Given the description of an element on the screen output the (x, y) to click on. 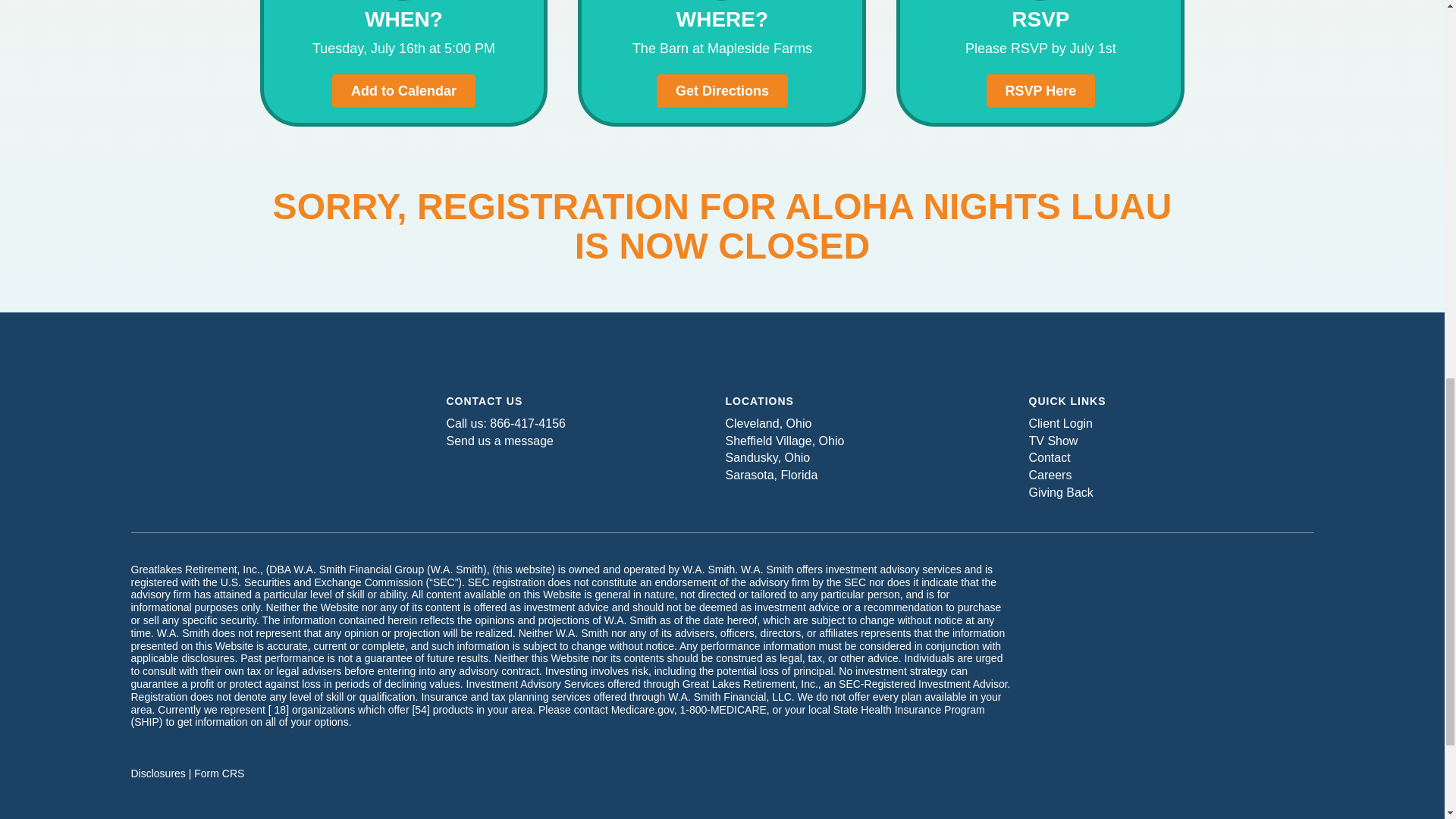
Client Login (1060, 422)
Click Here (721, 90)
Get Directions (721, 90)
Add to Calendar (403, 90)
Sheffield Village, Ohio (784, 440)
Send us a message (499, 440)
Sarasota, Florida (770, 474)
Cleveland, Ohio (767, 422)
Contact (1048, 457)
Call us: 866-417-4156 (504, 422)
W.A. Smith Financial Group Logo (272, 423)
Click Here (403, 90)
Sandusky, Ohio (767, 457)
Click Here (1041, 90)
TV Show (1052, 440)
